Given the description of an element on the screen output the (x, y) to click on. 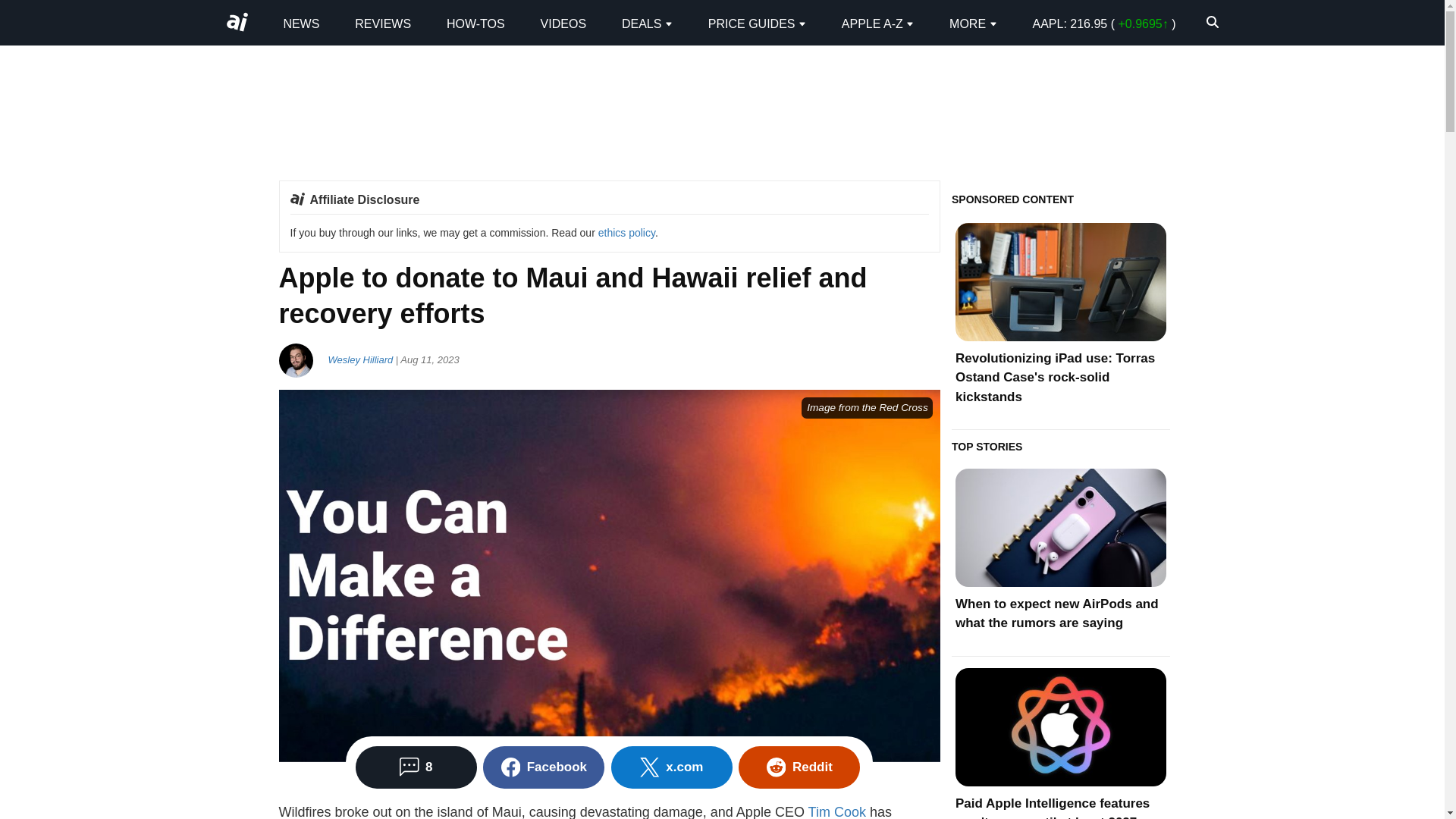
How-Tos (475, 23)
News (300, 23)
REVIEWS (382, 23)
Videos (563, 23)
HOW-TOS (475, 23)
Reviews (382, 23)
NEWS (300, 23)
VIDEOS (563, 23)
